Given the description of an element on the screen output the (x, y) to click on. 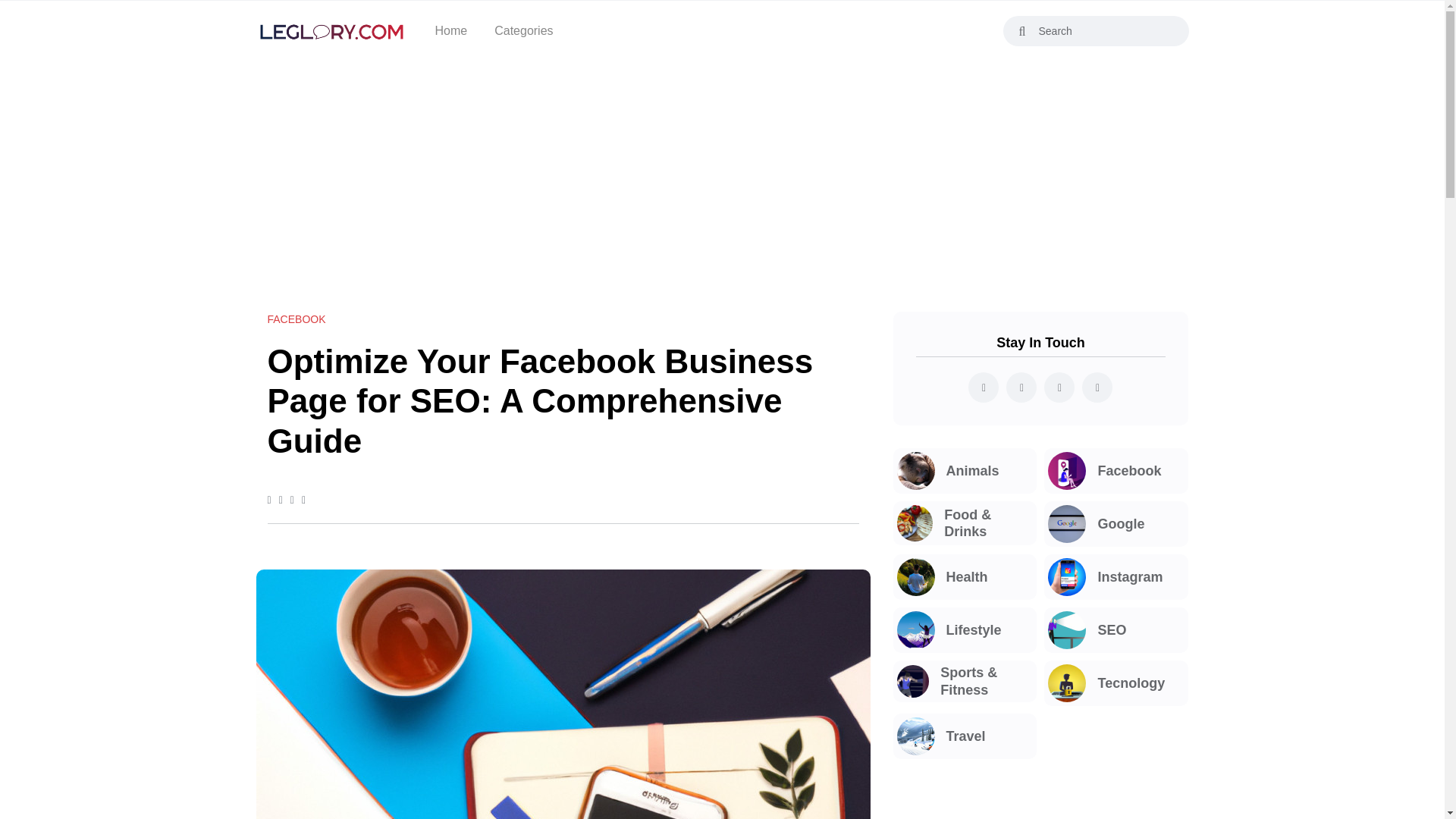
FACEBOOK (295, 319)
Categories (524, 30)
